Given the description of an element on the screen output the (x, y) to click on. 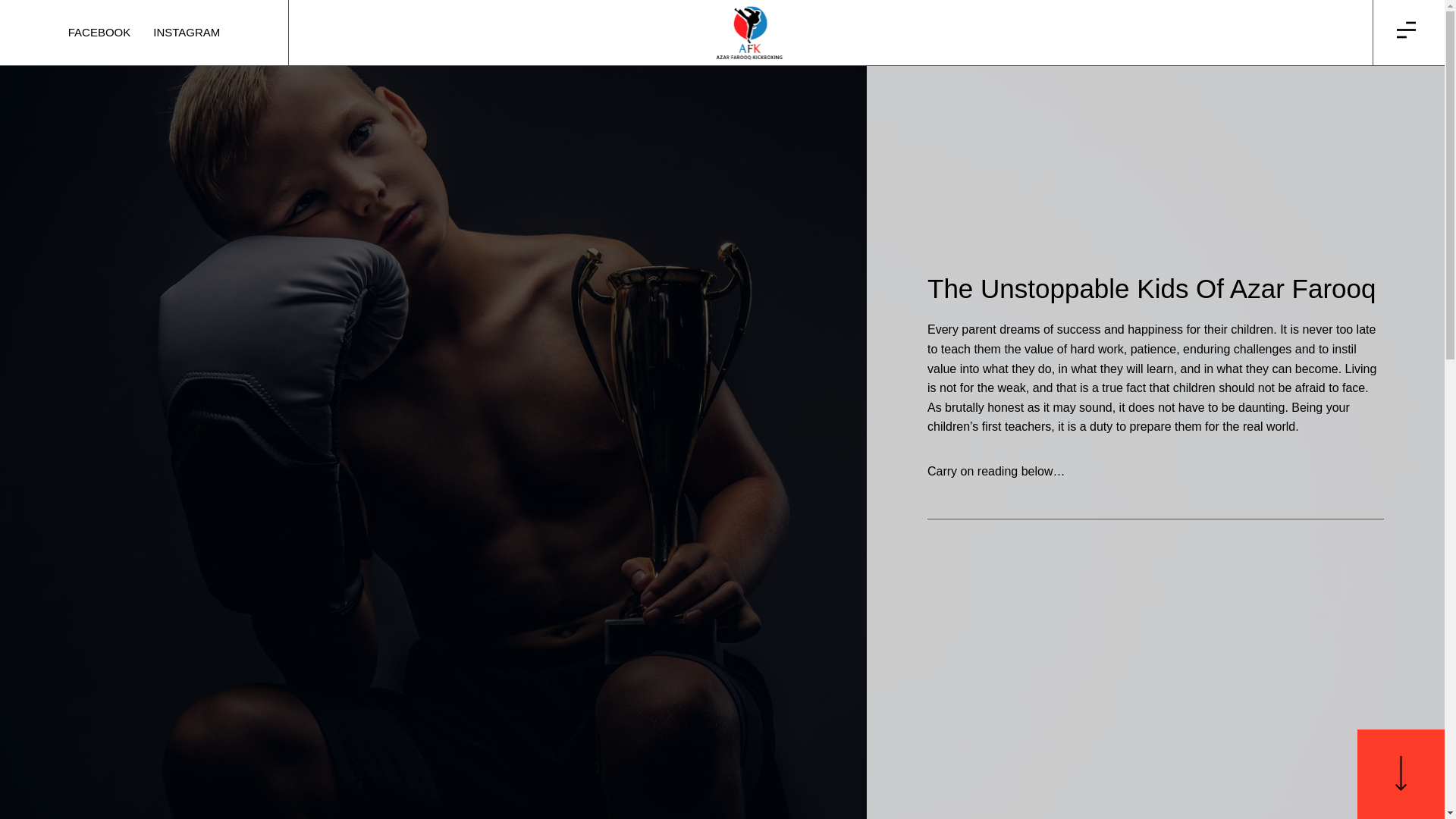
The Unstoppable Kids Of Azar Farooq (1155, 288)
INSTAGRAM (144, 32)
FACEBOOK (185, 32)
